Given the description of an element on the screen output the (x, y) to click on. 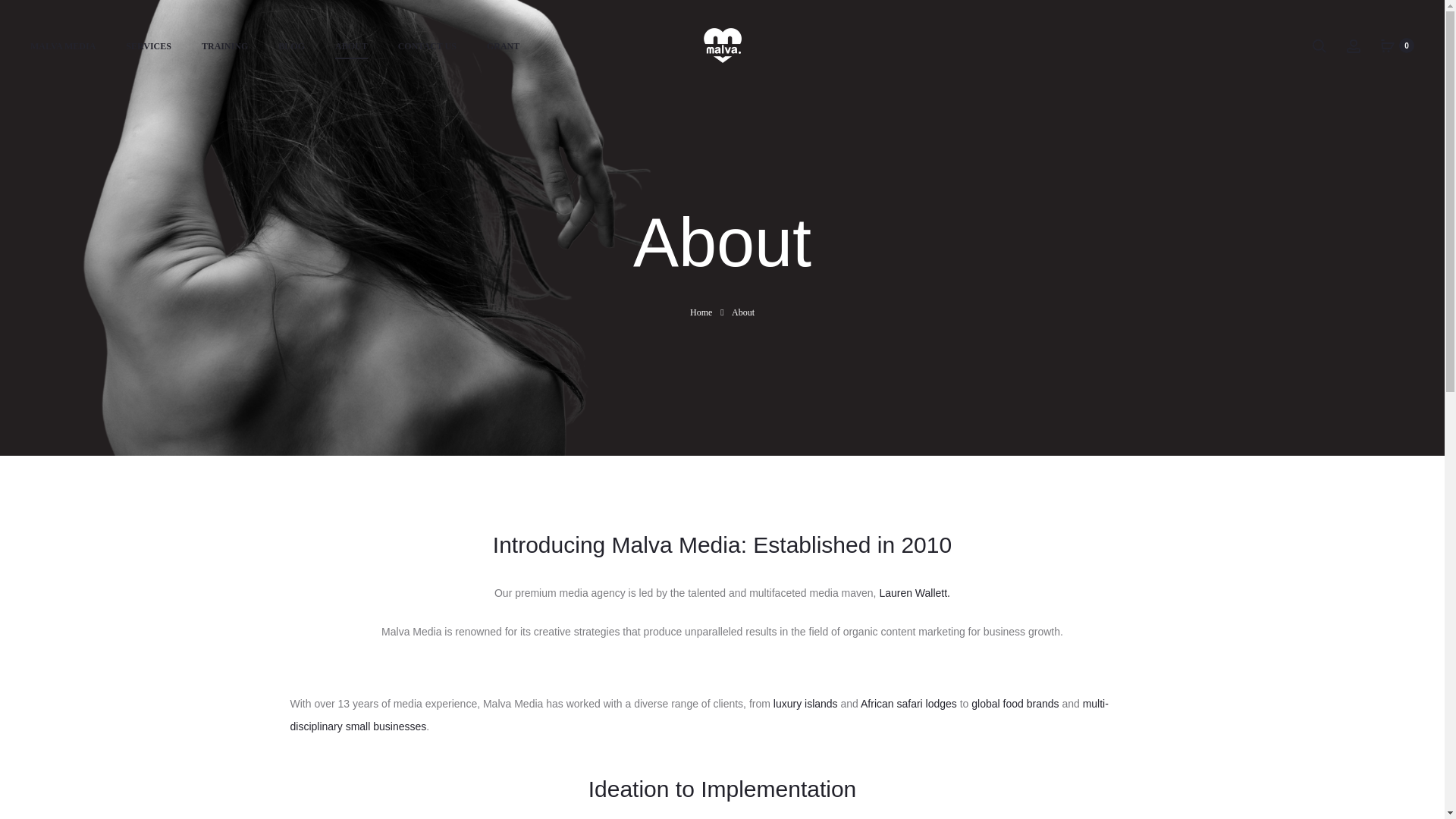
African safari lodges (908, 703)
multi-disciplinary small businesses (698, 714)
Lauren Wallett. (914, 592)
TRAINING (224, 46)
luxury islands (805, 703)
0 (1387, 45)
ABOUT (351, 46)
Search (1318, 45)
global food brands (1014, 703)
MALVA MEDIA (63, 46)
SERVICES (148, 46)
BLOG (291, 46)
GRANT (502, 46)
Home (700, 312)
Account (1353, 45)
